Given the description of an element on the screen output the (x, y) to click on. 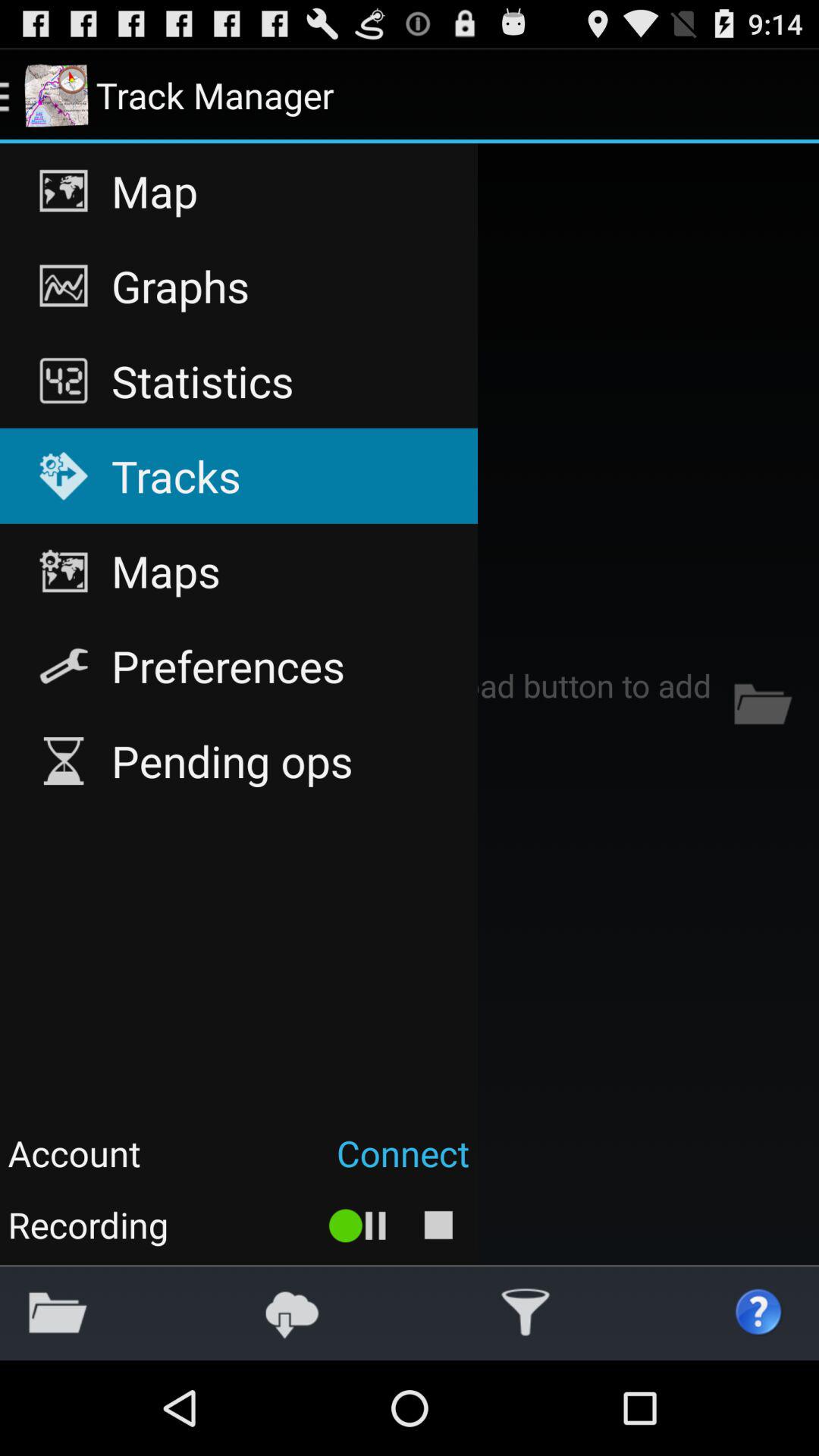
turn off the map item (238, 190)
